Given the description of an element on the screen output the (x, y) to click on. 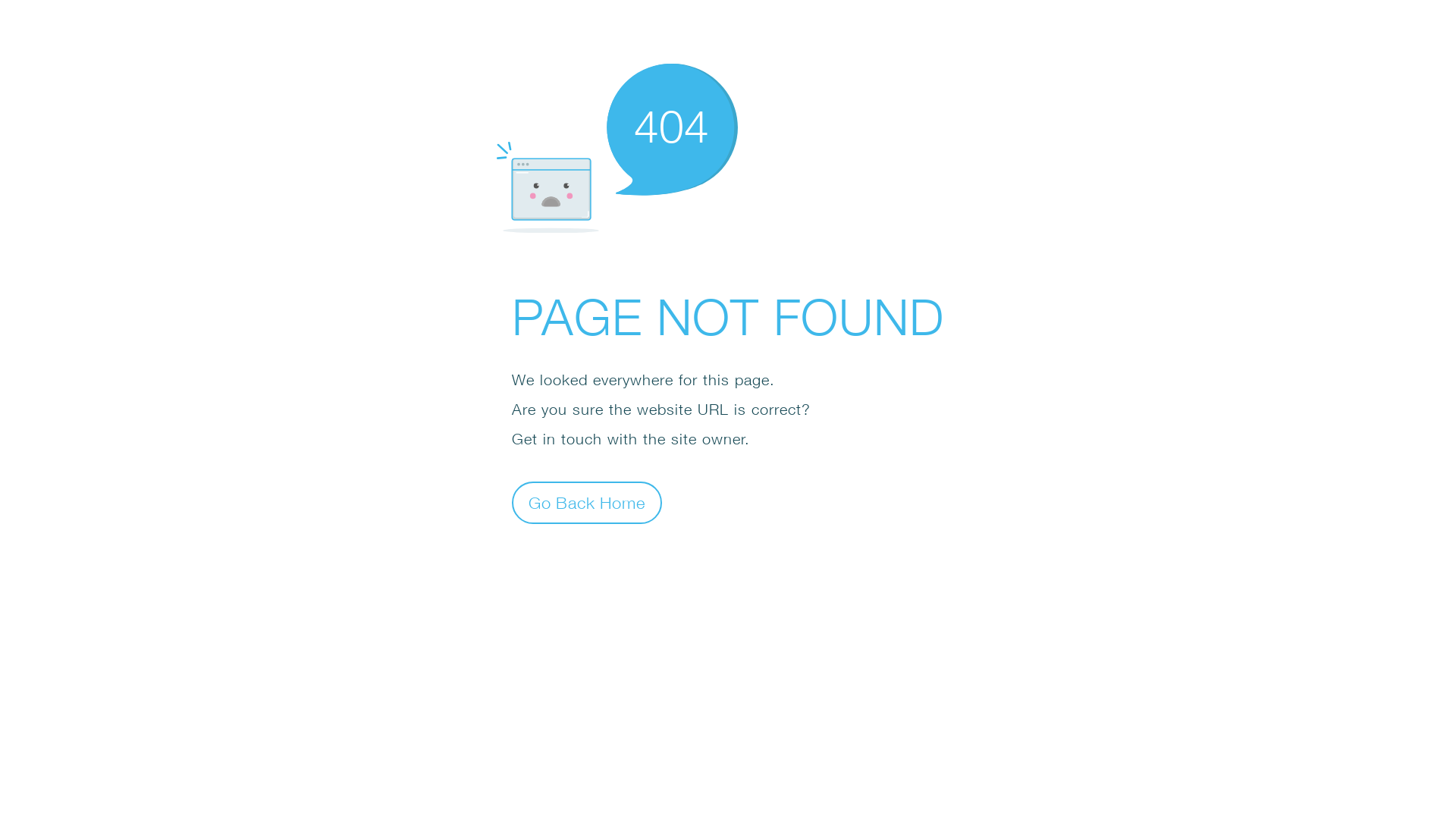
Go Back Home Element type: text (586, 502)
